Given the description of an element on the screen output the (x, y) to click on. 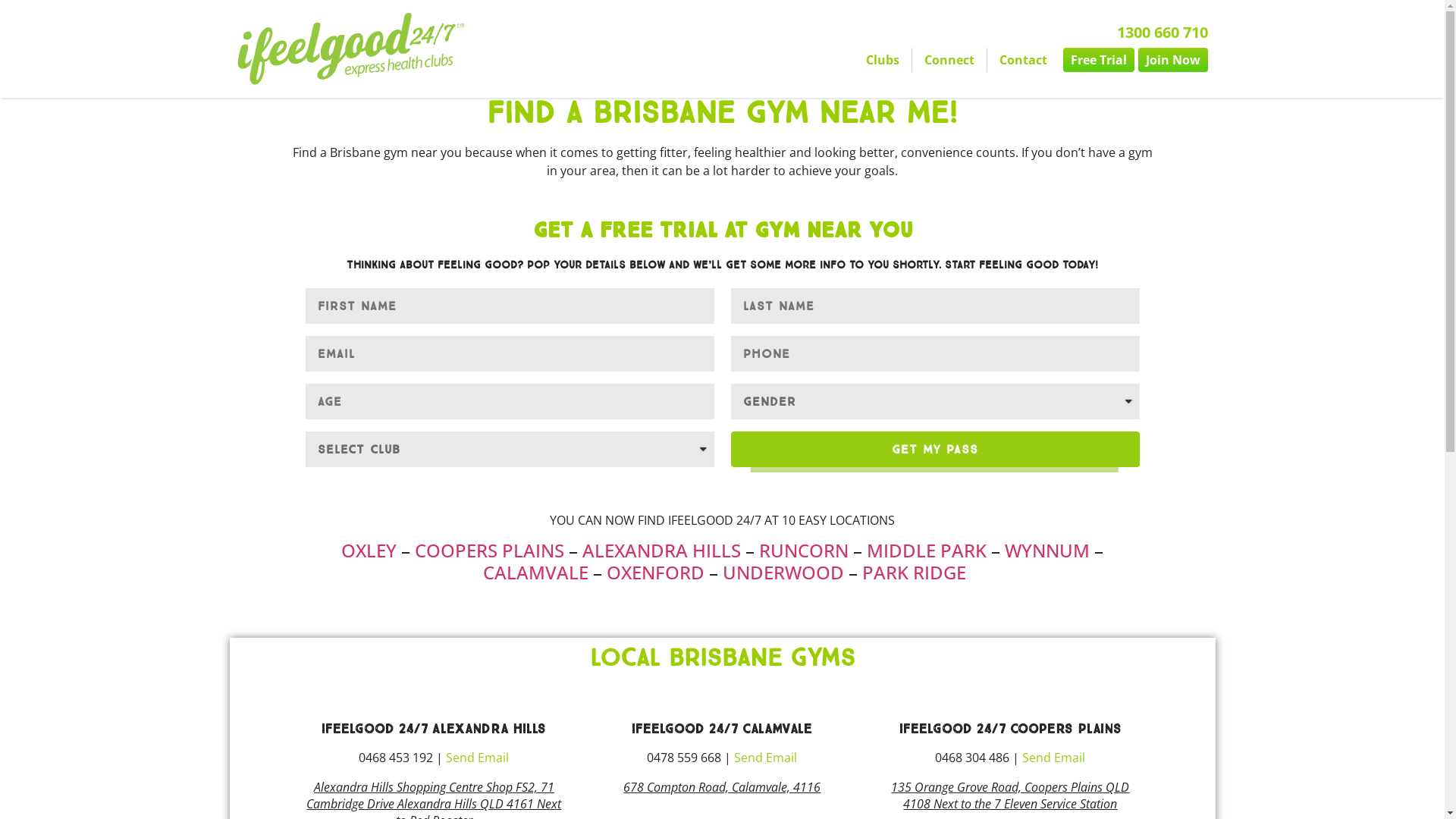
OXENFORD Element type: text (655, 571)
ifeelgood 24/7 Calamvale Element type: text (721, 728)
Free Trial Element type: text (1098, 59)
Connect Element type: text (948, 59)
1300 660 710 Element type: text (1161, 31)
OXLEY  Element type: text (371, 549)
MIDDLE PARK Element type: text (926, 549)
ifeelgood 24/7 Coopers Plains Element type: text (1010, 728)
Send Email Element type: text (765, 757)
UNDERWOOD Element type: text (783, 571)
Get My Pass Element type: text (935, 449)
Contact Element type: text (1023, 59)
ifeelgood 24/7 Alexandra Hills Element type: text (433, 728)
PARK RIDGE Element type: text (914, 571)
CALAMVALE Element type: text (535, 571)
ALEXANDRA HILLS Element type: text (661, 549)
678 Compton Road, Calamvale, 4116 Element type: text (721, 786)
WYNNUM Element type: text (1046, 549)
Send Email Element type: text (476, 757)
RUNCORN  Element type: text (806, 549)
COOPERS PLAINS Element type: text (489, 549)
Join Now Element type: text (1172, 59)
Clubs Element type: text (882, 59)
Send Email Element type: text (1053, 757)
